Given the description of an element on the screen output the (x, y) to click on. 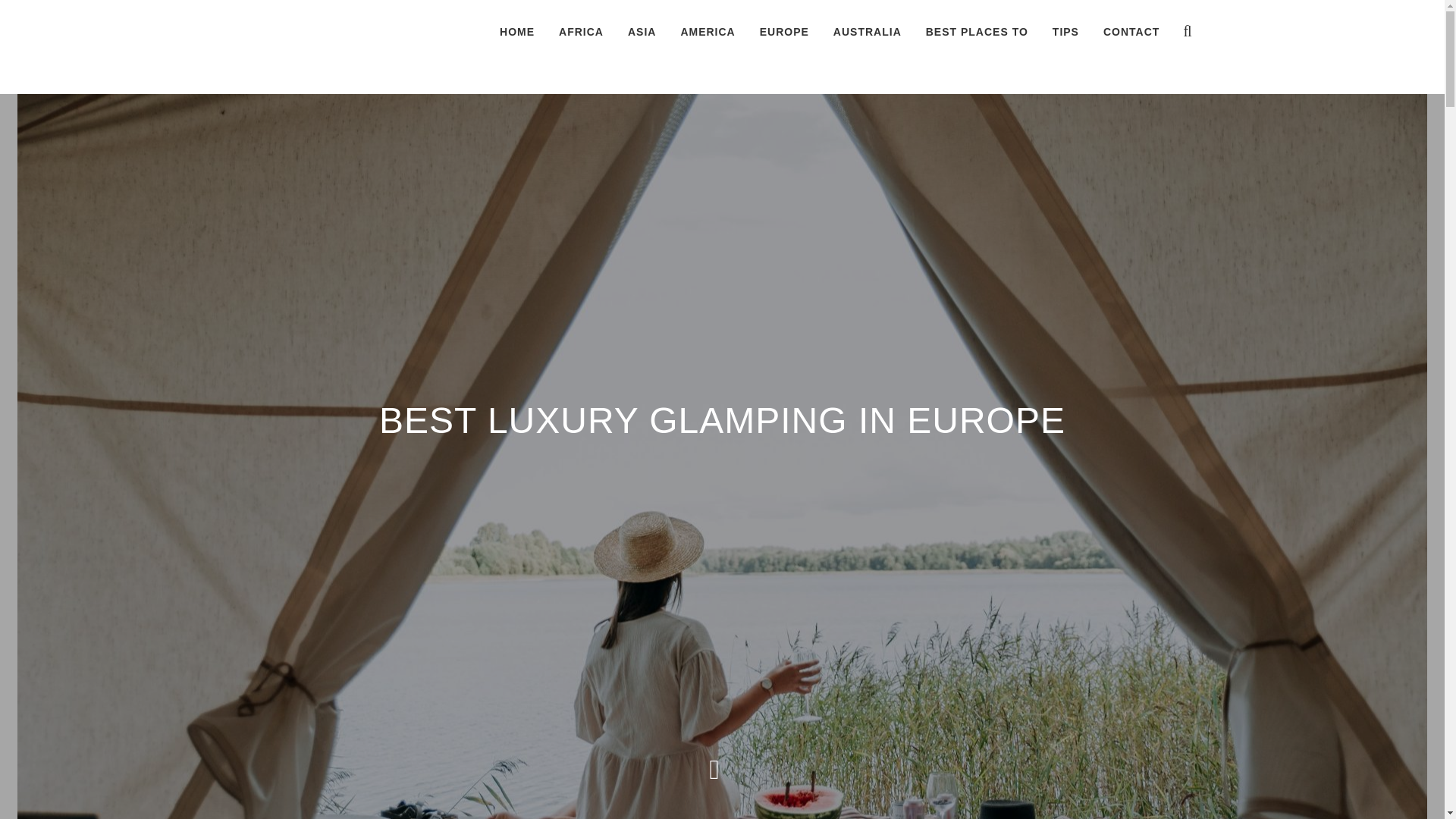
AMERICA (706, 32)
EUROPE (783, 32)
AFRICA (580, 32)
